Given the description of an element on the screen output the (x, y) to click on. 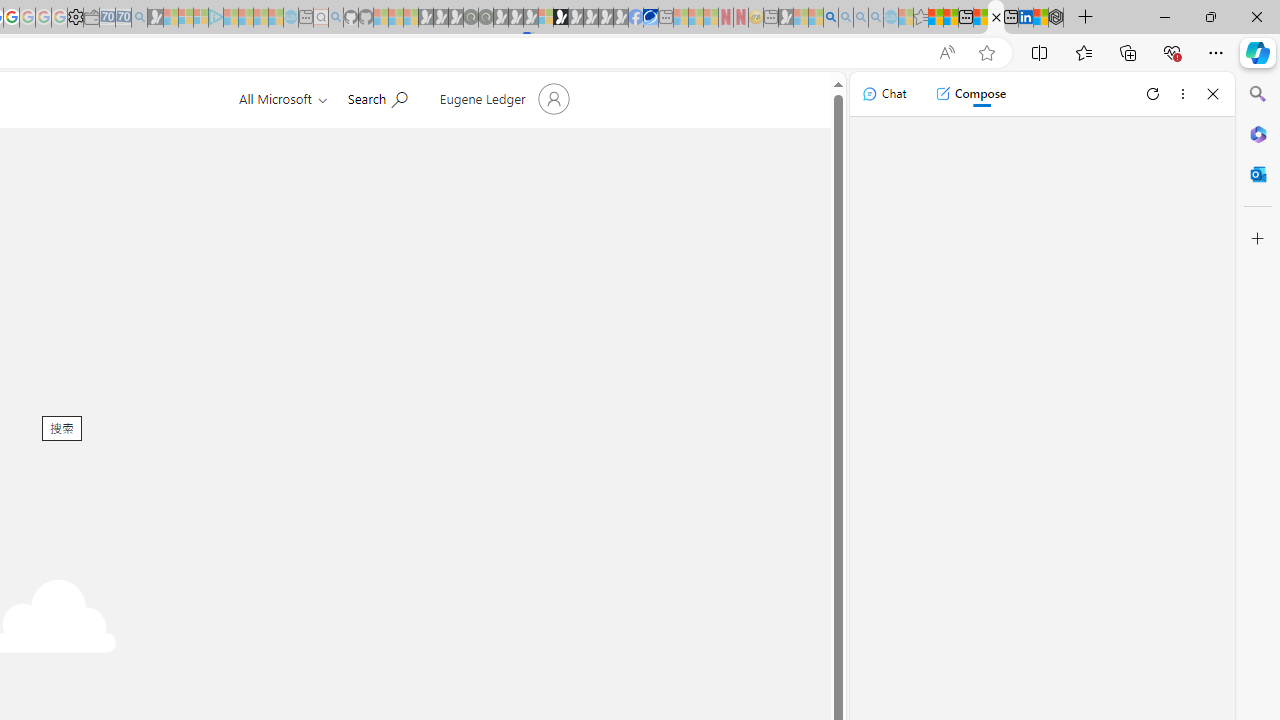
Compose (970, 93)
Sign in to your account - Sleeping (545, 17)
Nordace - Summer Adventures 2024 (1055, 17)
Microsoft Start Gaming - Sleeping (155, 17)
